Given the description of an element on the screen output the (x, y) to click on. 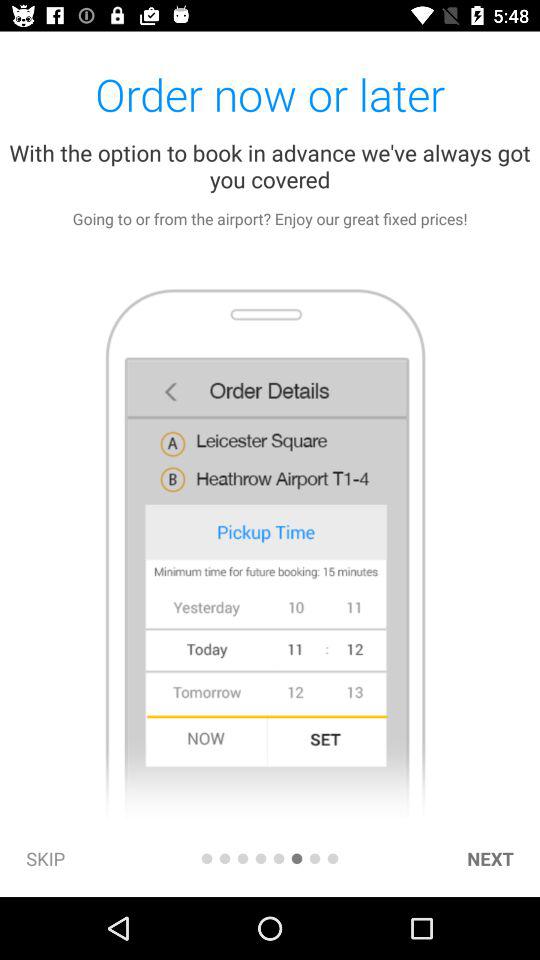
launch the item next to the skip icon (206, 858)
